Given the description of an element on the screen output the (x, y) to click on. 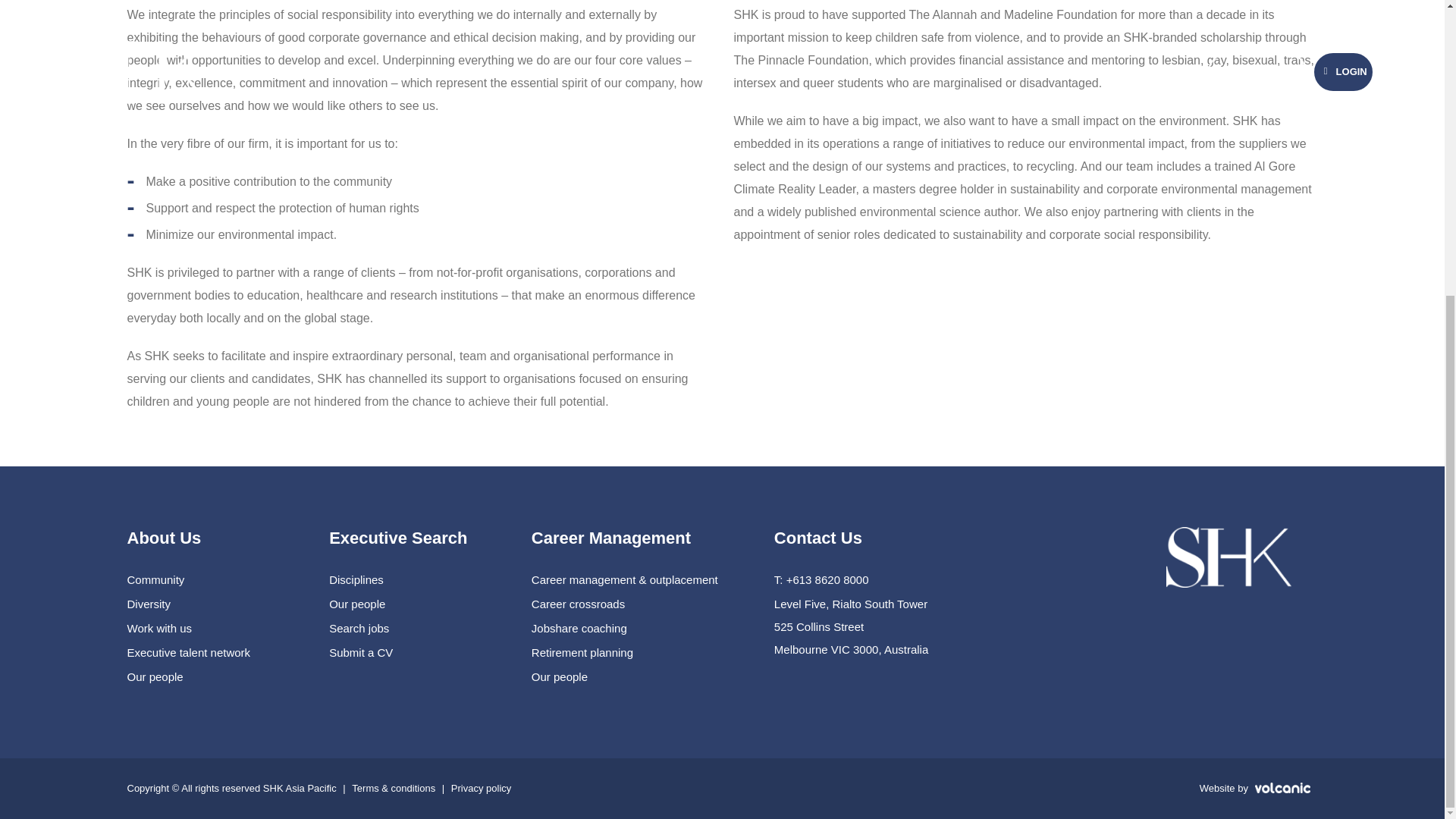
Search jobs (358, 629)
Disciplines (356, 580)
Retirement planning (582, 653)
Diversity (149, 604)
Jobshare coaching (579, 629)
Community (156, 580)
Go to the Homepage (1228, 557)
Work with us (160, 629)
Our people (155, 677)
Career crossroads (577, 604)
